Given the description of an element on the screen output the (x, y) to click on. 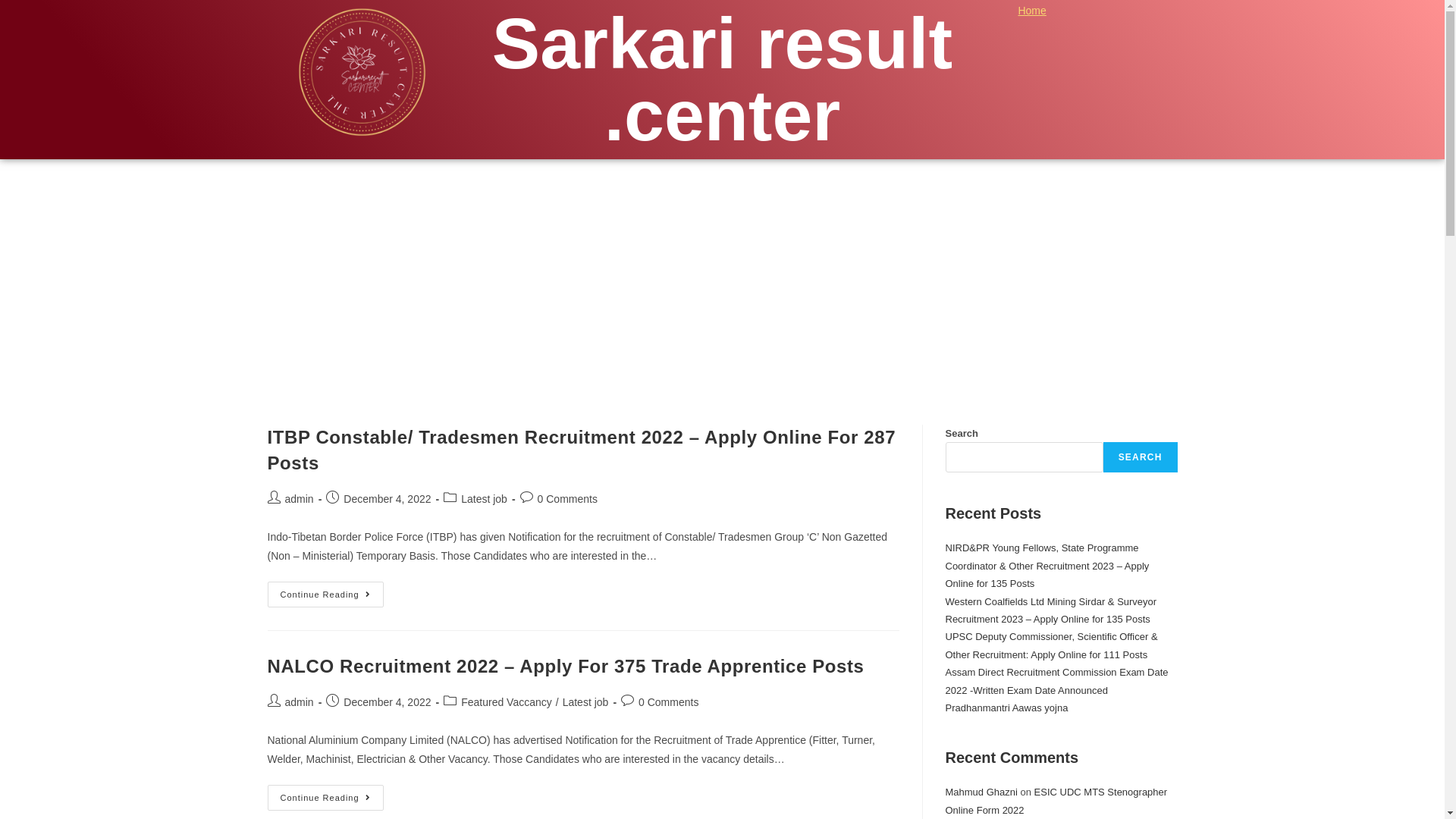
Featured Vaccancy Element type: text (506, 702)
admin Element type: text (299, 702)
0 Comments Element type: text (567, 498)
Latest job Element type: text (585, 702)
ESIC UDC MTS Stenographer Online Form 2022 Element type: text (1055, 800)
Advertisement Element type: hover (721, 272)
Mahmud Ghazni Element type: text (980, 791)
Home Element type: text (1031, 10)
0 Comments Element type: text (668, 702)
Latest job Element type: text (484, 498)
Continue Reading Element type: text (324, 594)
admin Element type: text (299, 498)
Pradhanmantri Aawas yojna Element type: text (1005, 707)
Continue Reading Element type: text (324, 797)
SEARCH Element type: text (1140, 457)
